Given the description of an element on the screen output the (x, y) to click on. 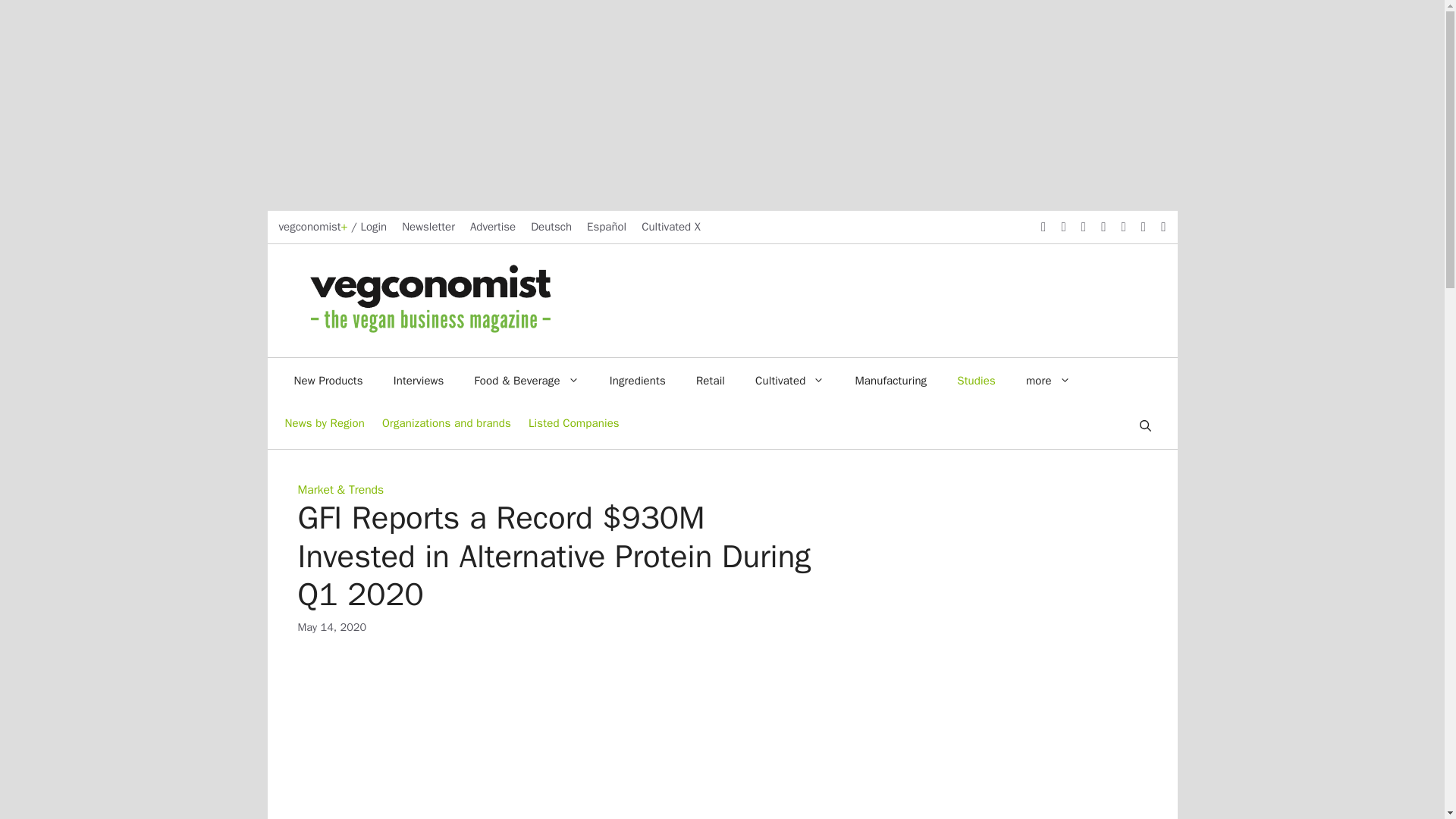
Ingredients (637, 380)
Interviews (419, 380)
Newsletter (427, 226)
Cultivated X (671, 226)
Studies (976, 380)
New Products (328, 380)
Manufacturing (891, 380)
more (1048, 380)
Deutsch (551, 226)
Advertise (492, 226)
